Given the description of an element on the screen output the (x, y) to click on. 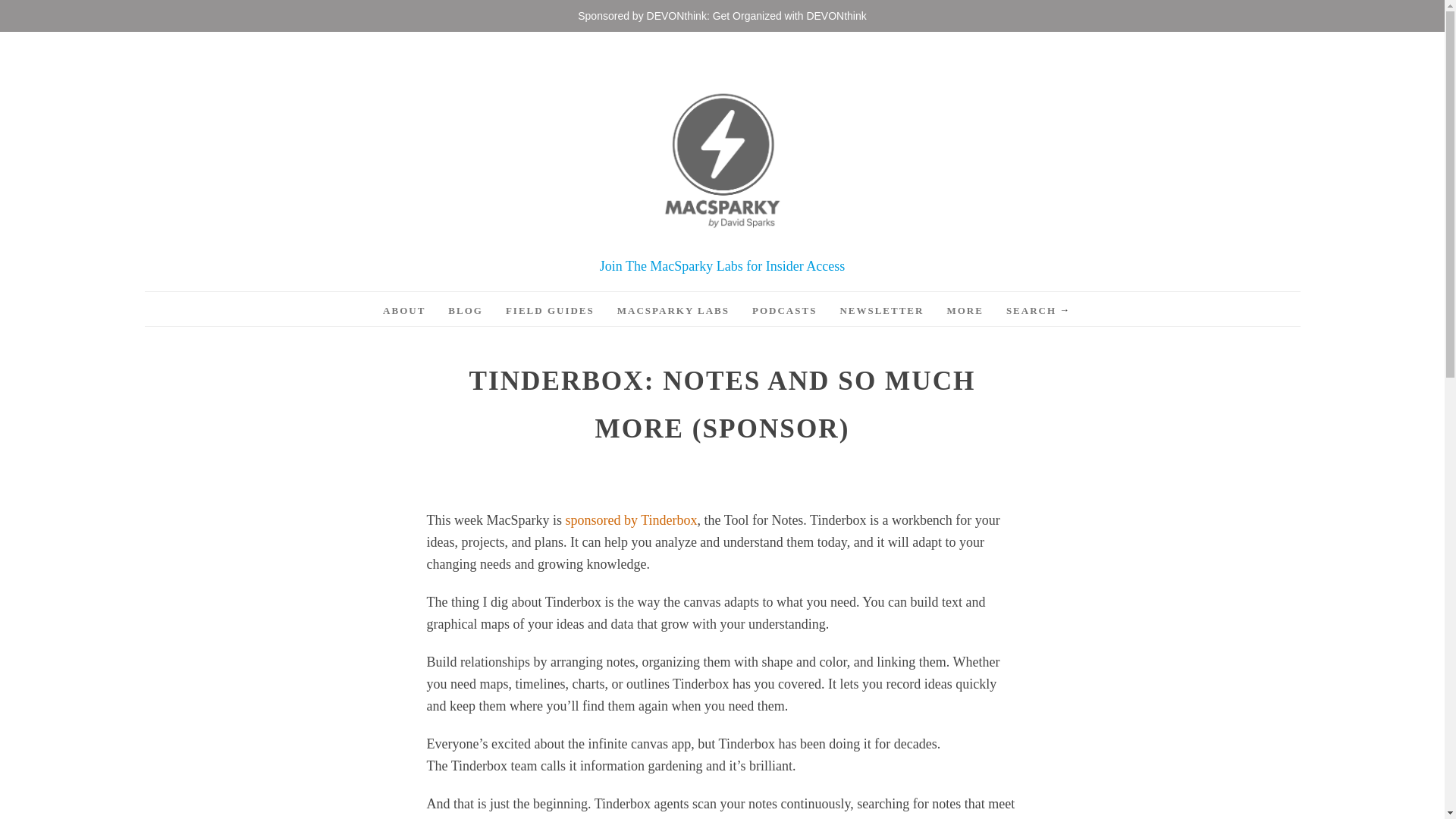
MORE (964, 310)
NEWSLETTER (881, 310)
PODCASTS (784, 310)
sponsored by Tinderbox (630, 519)
DEVONthink: Get Organized with DEVONthink (756, 15)
MACSPARKY LABS (673, 310)
Join The MacSparky Labs for Insider Access (722, 265)
ABOUT (403, 310)
BLOG (465, 310)
FIELD GUIDES (549, 310)
